Given the description of an element on the screen output the (x, y) to click on. 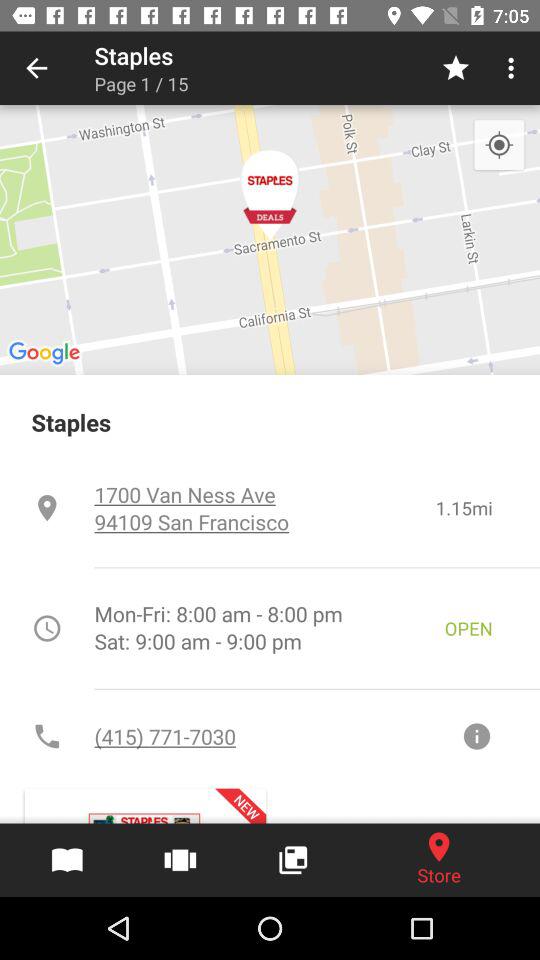
tap the item to the left of the staples app (36, 68)
